Given the description of an element on the screen output the (x, y) to click on. 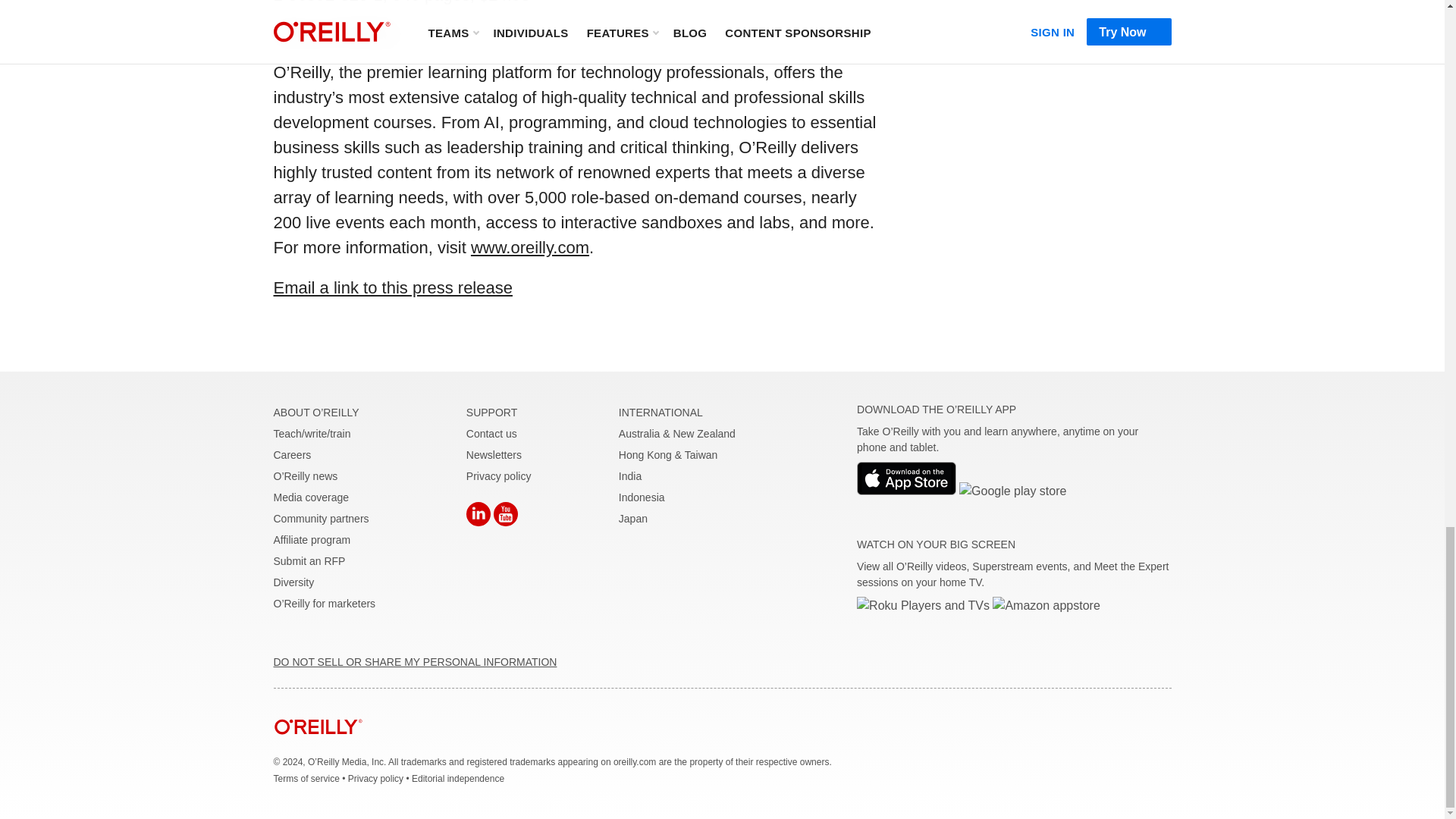
www.oreilly.com (529, 247)
home page (317, 745)
Email a link to this press release (392, 287)
Careers (292, 454)
Community partners (320, 518)
Media coverage (311, 497)
Affiliate program (311, 539)
